Given the description of an element on the screen output the (x, y) to click on. 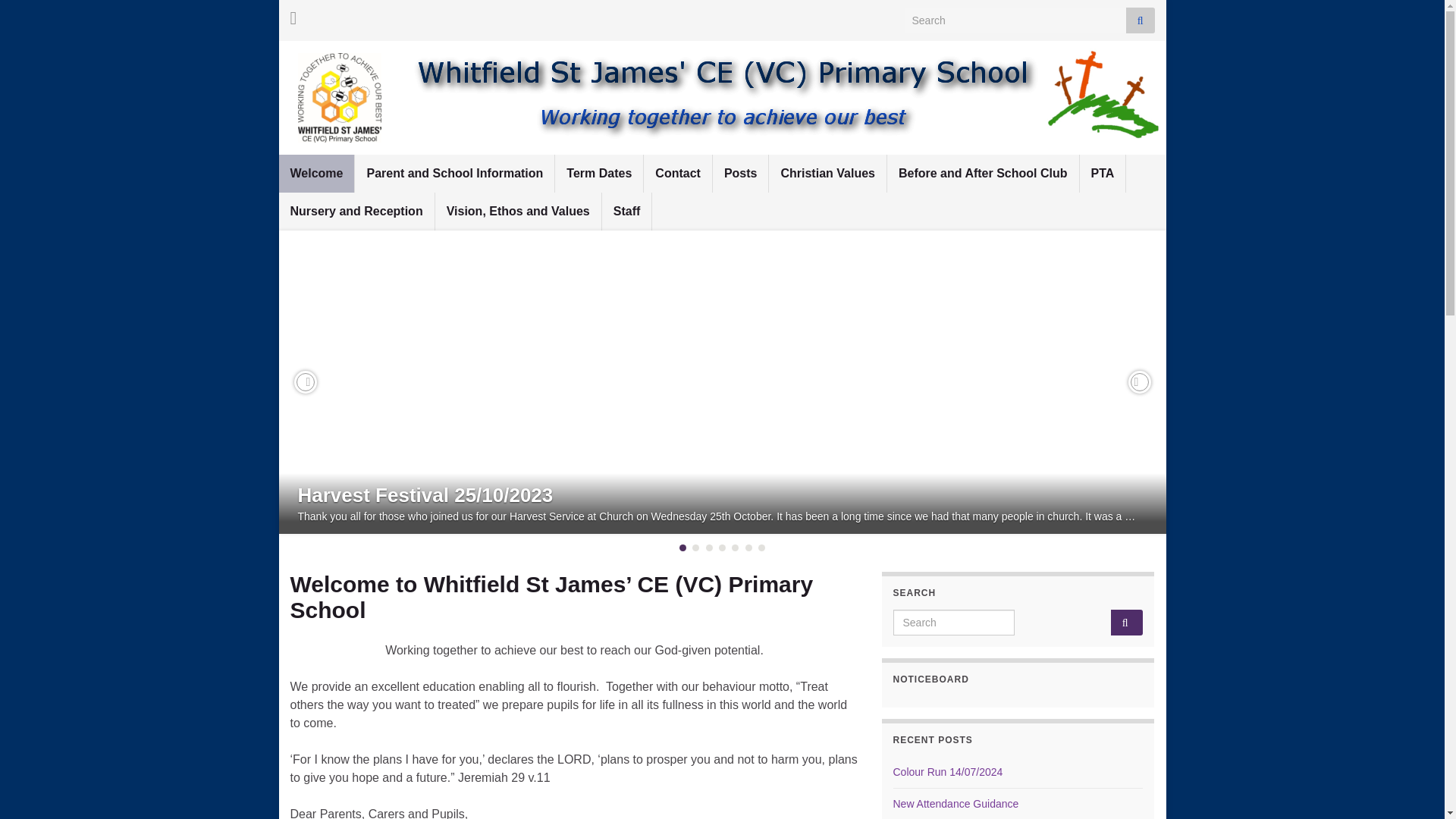
Posts (740, 173)
PTA (1102, 173)
Welcome (317, 173)
Previous (305, 382)
Vision, Ethos and Values (518, 211)
Staff (627, 211)
Parent and School Information (454, 173)
Nursery and Reception (356, 211)
Next (1139, 382)
